Given the description of an element on the screen output the (x, y) to click on. 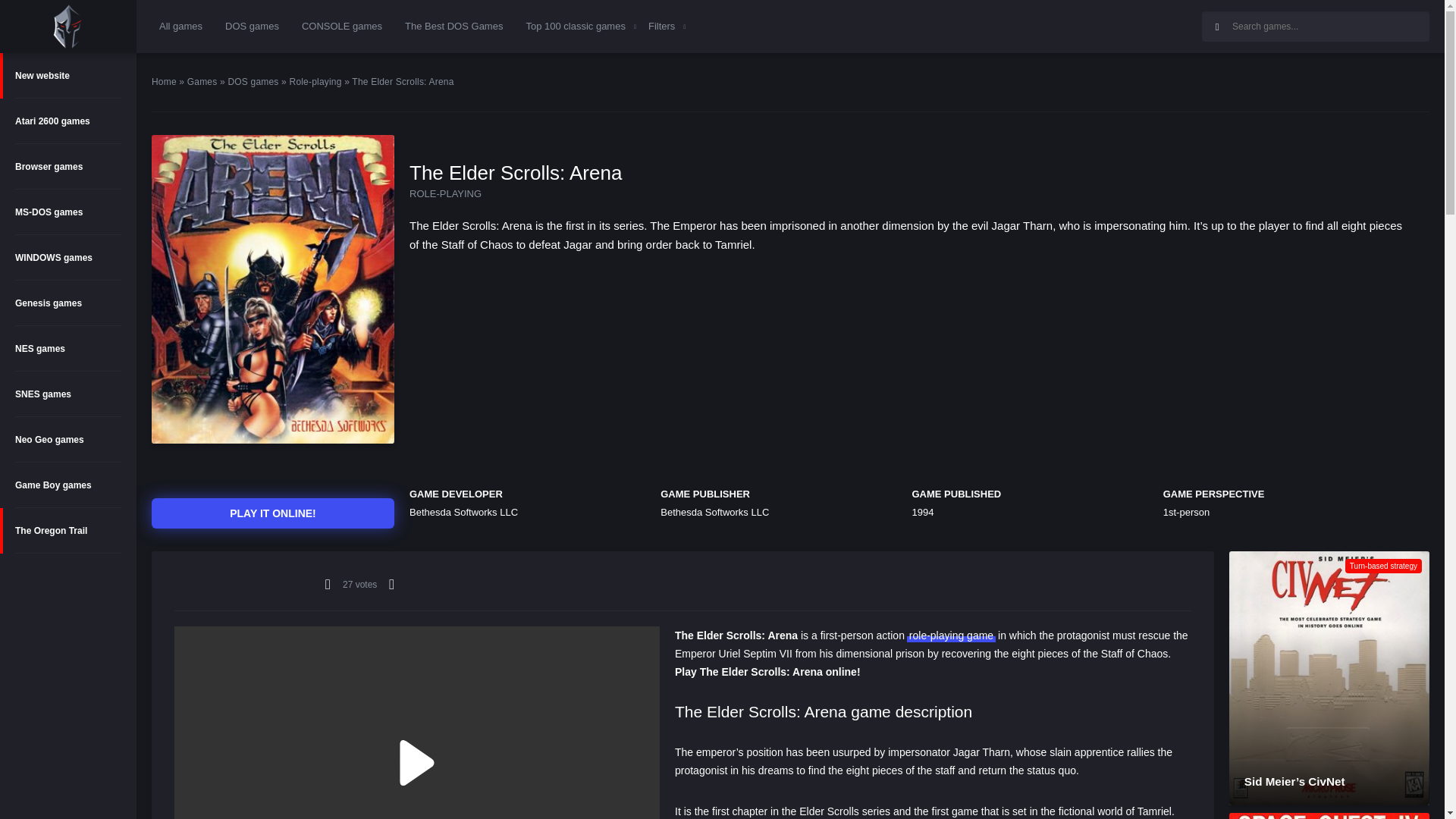
Top 100 classic games (575, 25)
Atari 2600 games (68, 121)
Play Classic games online (67, 26)
New website (68, 75)
Play CLASSIC games online (68, 26)
Play Turn-based strategy games online (1383, 565)
All games (180, 25)
DOS games (252, 25)
